Given the description of an element on the screen output the (x, y) to click on. 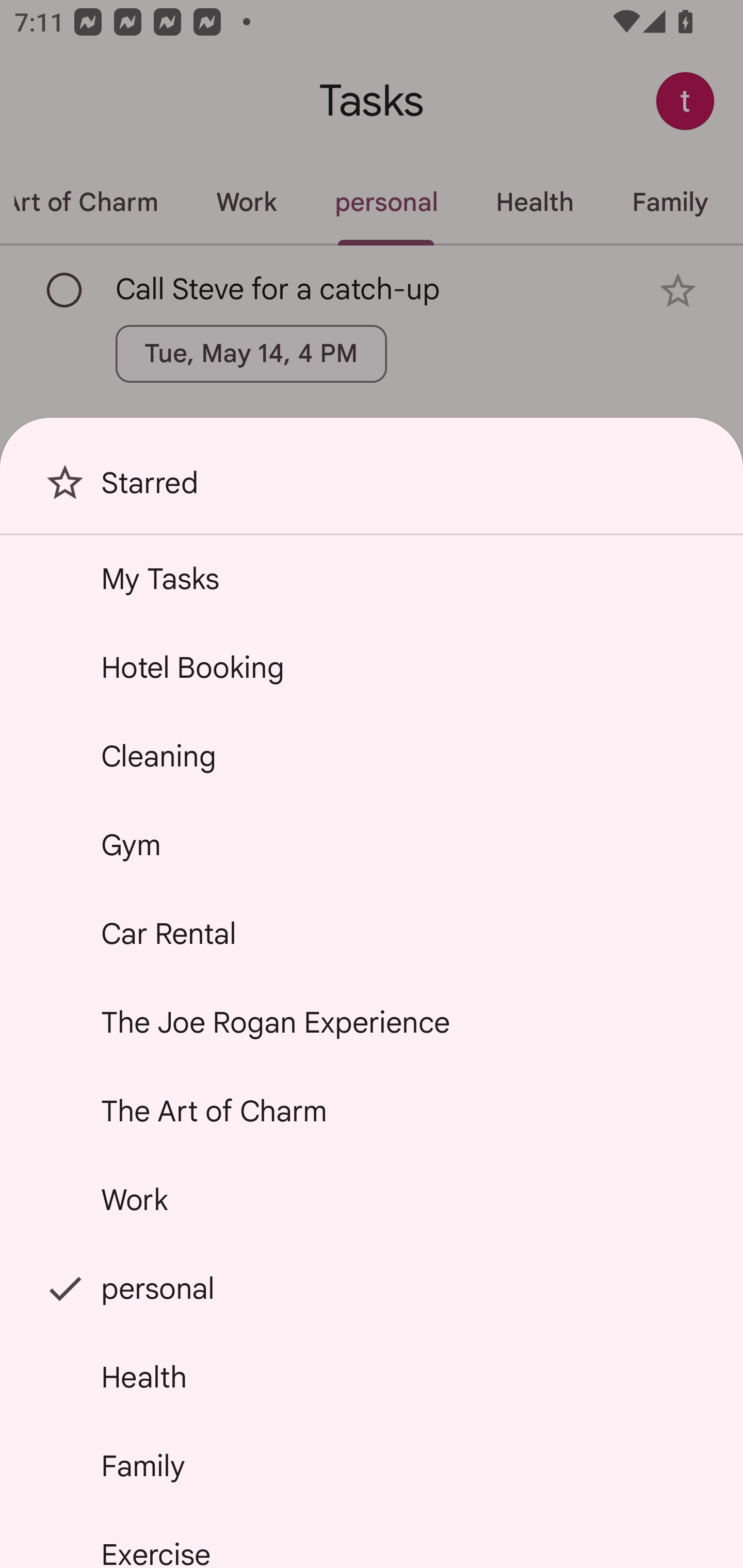
Starred (371, 489)
My Tasks (371, 578)
Hotel Booking (371, 667)
Cleaning (371, 756)
Gym (371, 844)
Car Rental (371, 933)
The Joe Rogan Experience (371, 1022)
The Art of Charm (371, 1110)
Work (371, 1200)
personal (371, 1287)
Health (371, 1377)
Family (371, 1465)
Exercise (371, 1539)
